Given the description of an element on the screen output the (x, y) to click on. 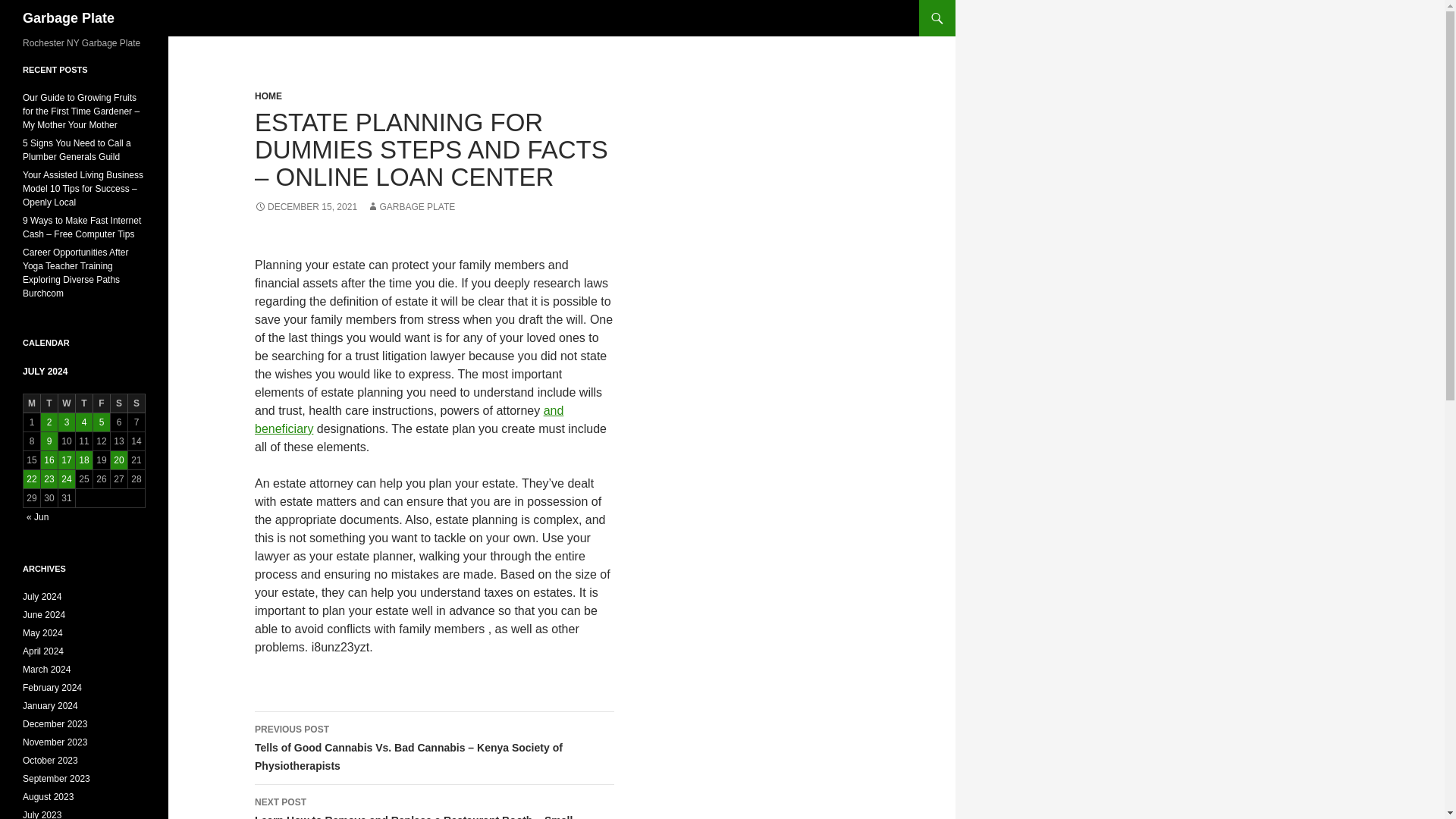
18 (84, 460)
Sunday (136, 403)
2 (49, 422)
GARBAGE PLATE (410, 206)
March 2024 (46, 669)
July 2024 (42, 596)
June 2024 (44, 614)
Garbage Plate (69, 18)
May 2024 (42, 633)
December 2023 (55, 724)
and beneficiary (408, 419)
November 2023 (55, 742)
16 (49, 460)
Wednesday (66, 403)
Monday (31, 403)
